Given the description of an element on the screen output the (x, y) to click on. 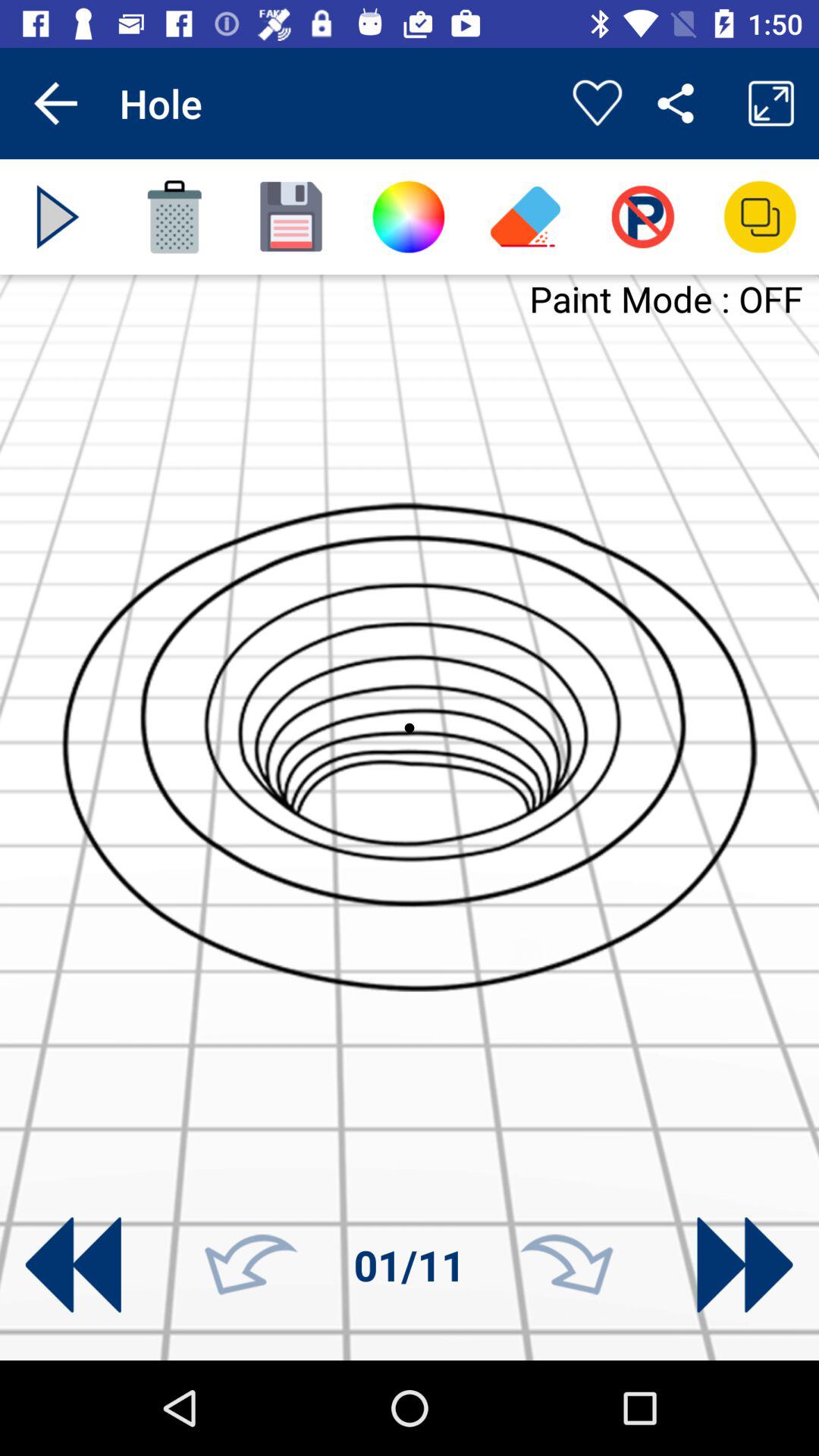
rotate right (566, 1264)
